Given the description of an element on the screen output the (x, y) to click on. 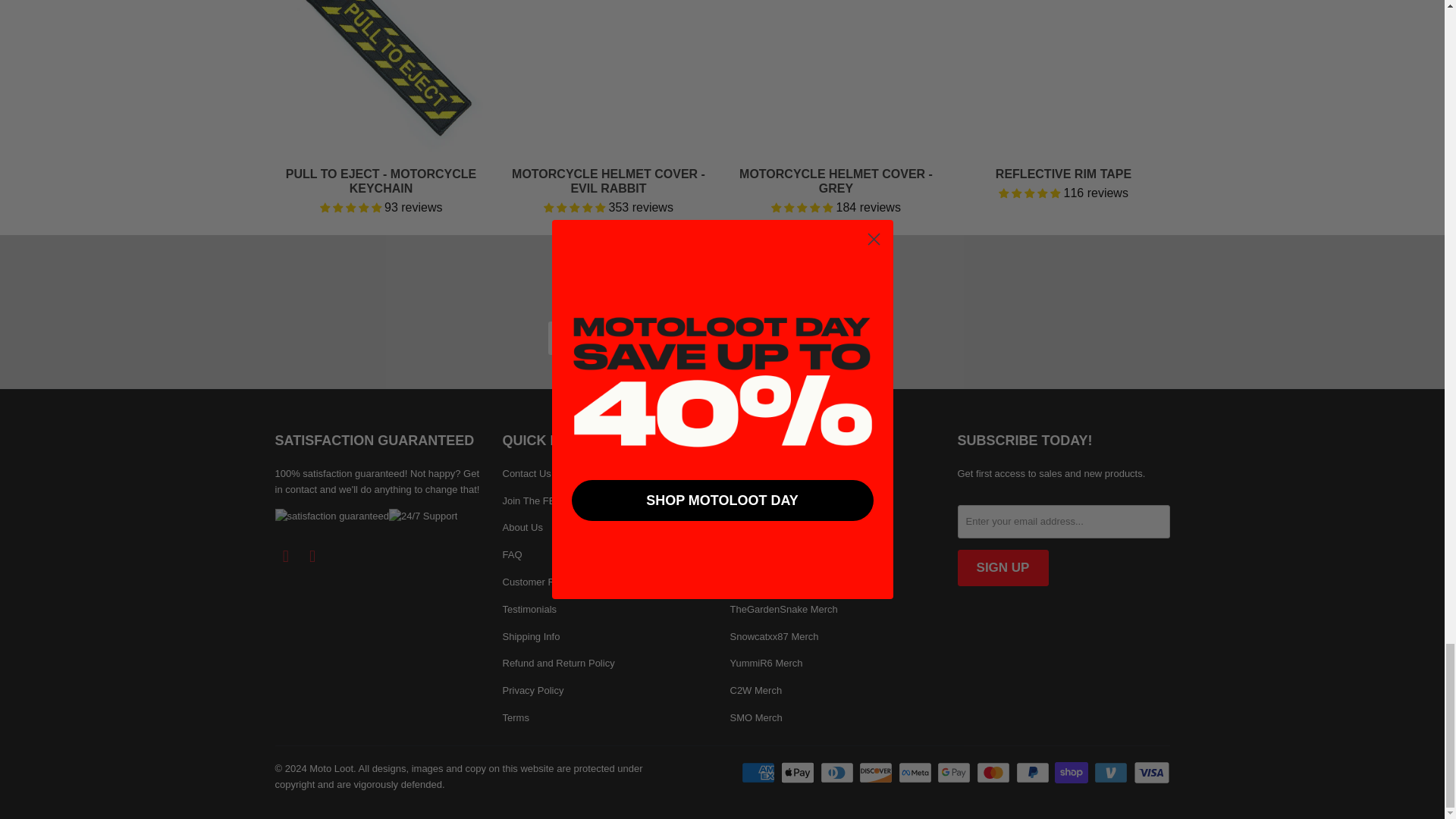
Mastercard (994, 772)
Sign Up (842, 337)
Sign Up (1002, 567)
Meta Pay (916, 772)
Apple Pay (798, 772)
PayPal (1034, 772)
Shop Pay (1072, 772)
Venmo (1112, 772)
Google Pay (955, 772)
Visa (1150, 772)
American Express (759, 772)
Discover (877, 772)
Diners Club (839, 772)
